Given the description of an element on the screen output the (x, y) to click on. 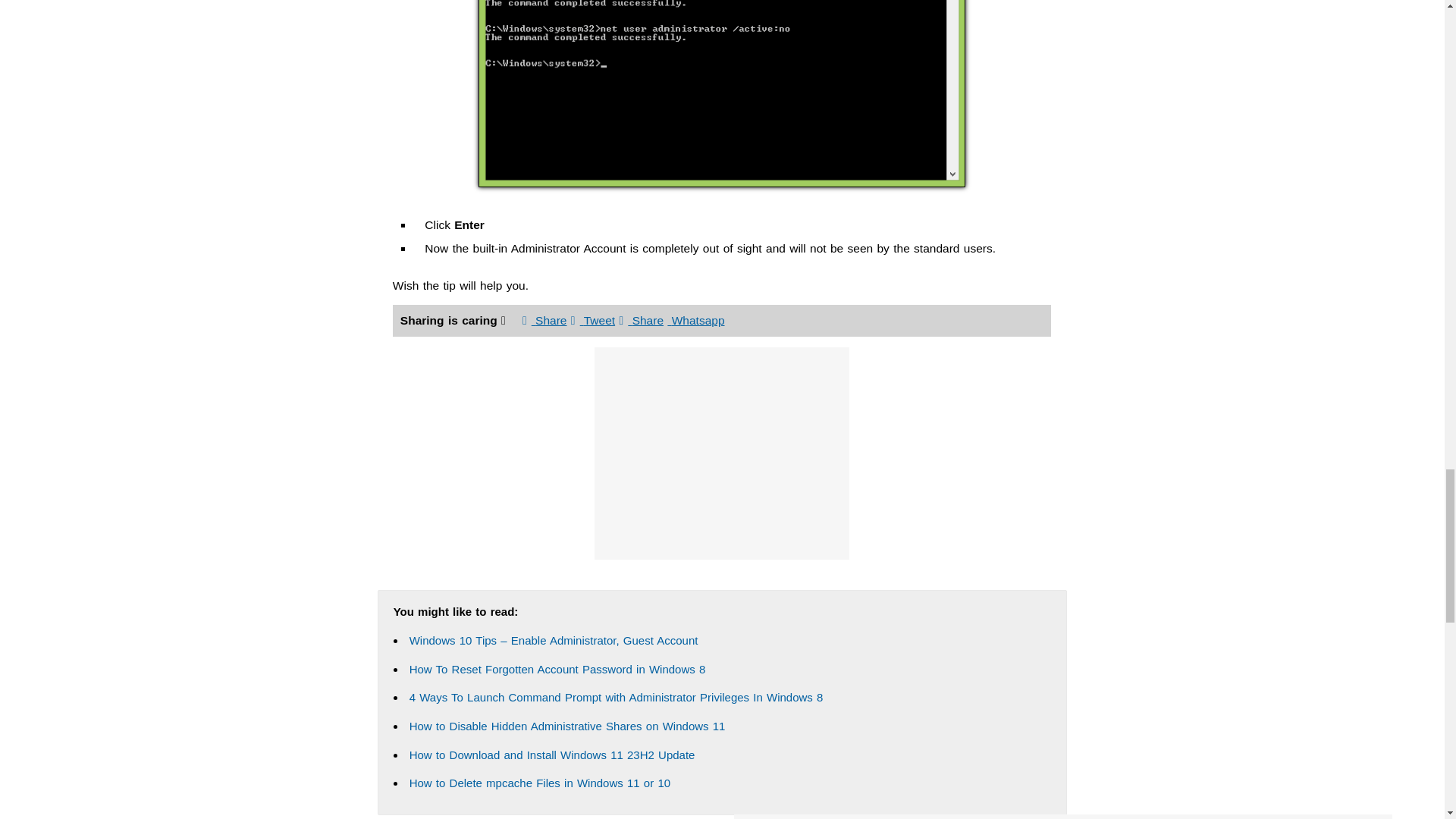
How To Reset Forgotten Account Password in Windows 8 (557, 668)
Share (544, 319)
Advertisement (721, 453)
Tweet (592, 319)
Share (640, 319)
Whatsapp (694, 319)
How to Download and Install Windows 11 23H2 Update (552, 754)
How to Disable Hidden Administrative Shares on Windows 11 (567, 725)
